Given the description of an element on the screen output the (x, y) to click on. 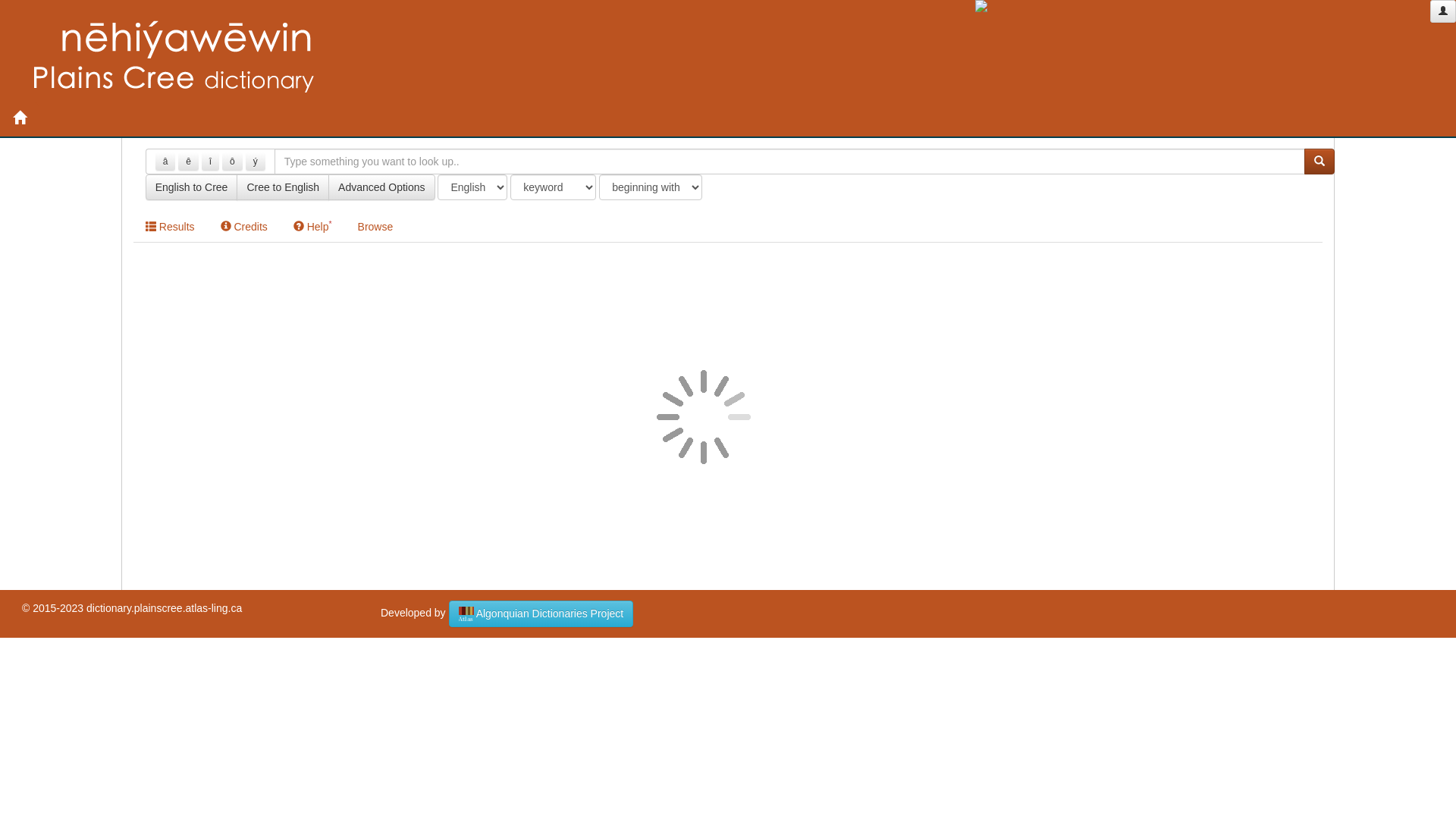
Results Element type: text (170, 226)
Algonquian Dictionaries Project Element type: text (540, 613)
Browse Element type: text (375, 226)
Help* Element type: text (312, 226)
Credits Element type: text (243, 226)
